Given the description of an element on the screen output the (x, y) to click on. 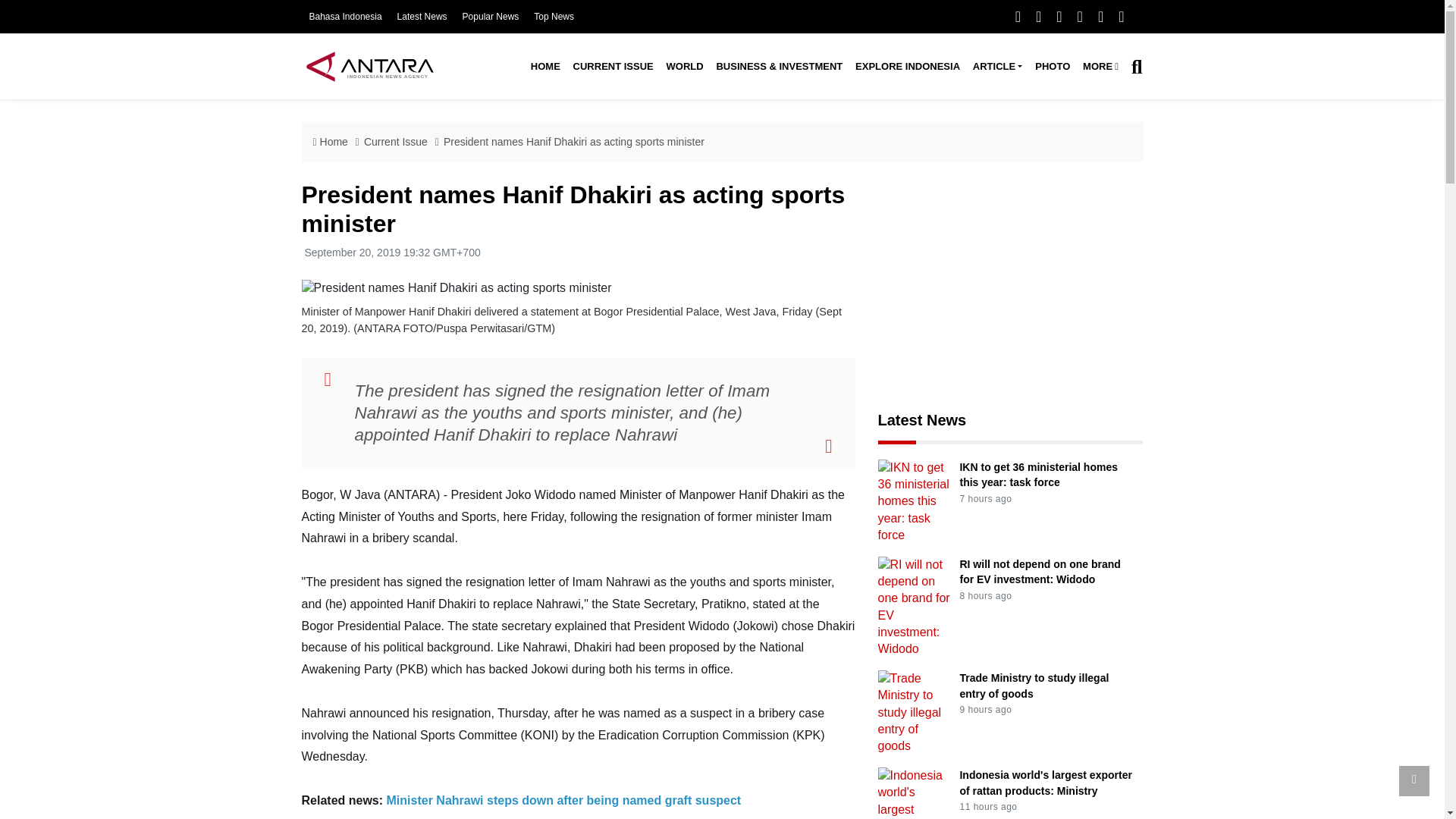
ANTARA News (369, 66)
Current Issue (612, 66)
ARTICLE (996, 66)
Top News (553, 16)
Explore Indonesia (907, 66)
CURRENT ISSUE (612, 66)
Latest News (421, 16)
Bahasa Indonesia (344, 16)
Top News (553, 16)
EXPLORE INDONESIA (907, 66)
Article (996, 66)
Popular News (491, 16)
Bahasa Indonesia (344, 16)
Popular News (491, 16)
